Given the description of an element on the screen output the (x, y) to click on. 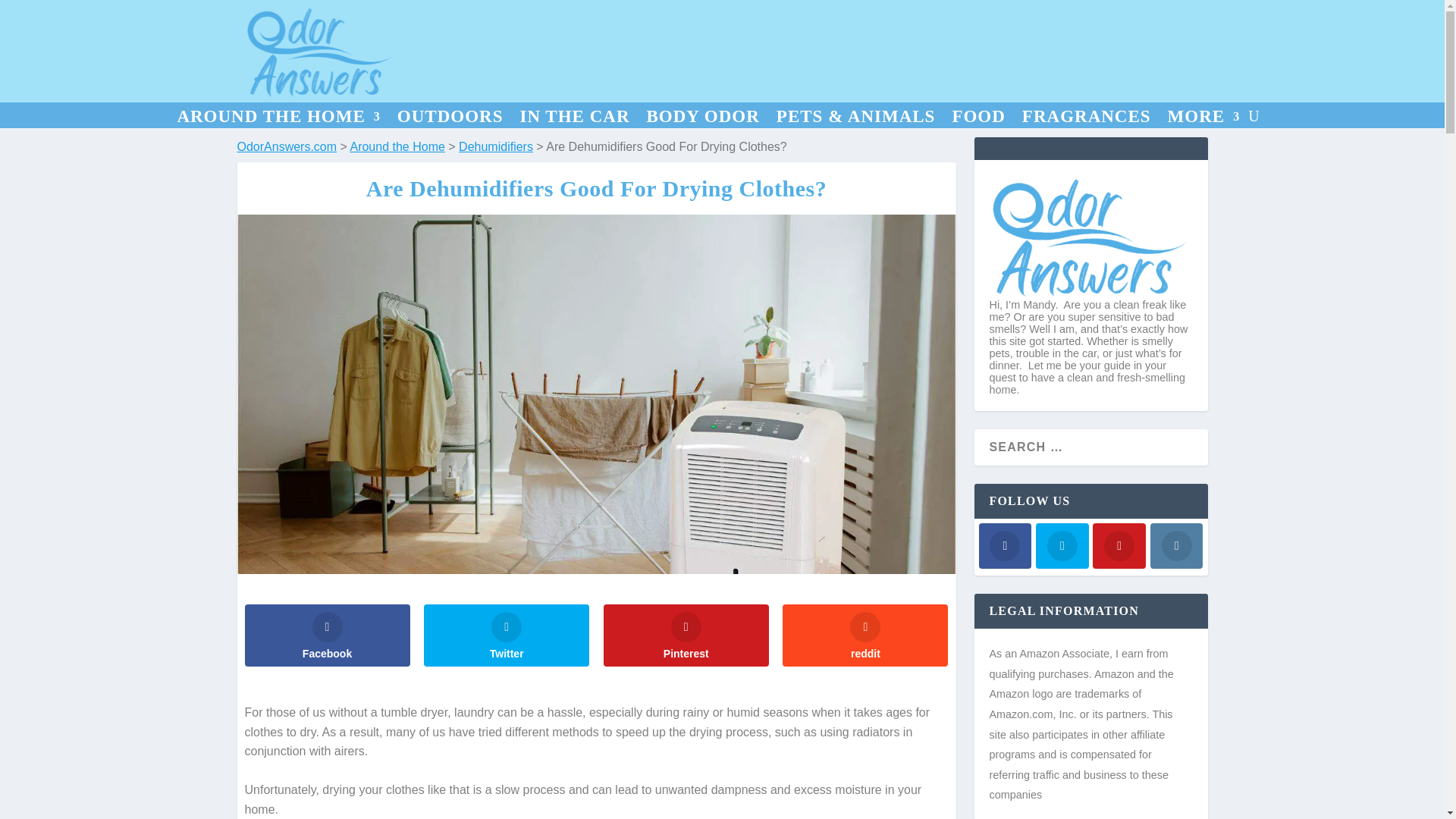
IN THE CAR (573, 119)
AROUND THE HOME (278, 119)
OdorAnswers.com (285, 146)
Dehumidifiers (495, 146)
FRAGRANCES (1086, 119)
Pinterest (686, 635)
Twitter (506, 635)
MORE (1203, 119)
Odor Answers Logo (320, 51)
Go to OdorAnswers.com. (285, 146)
